Given the description of an element on the screen output the (x, y) to click on. 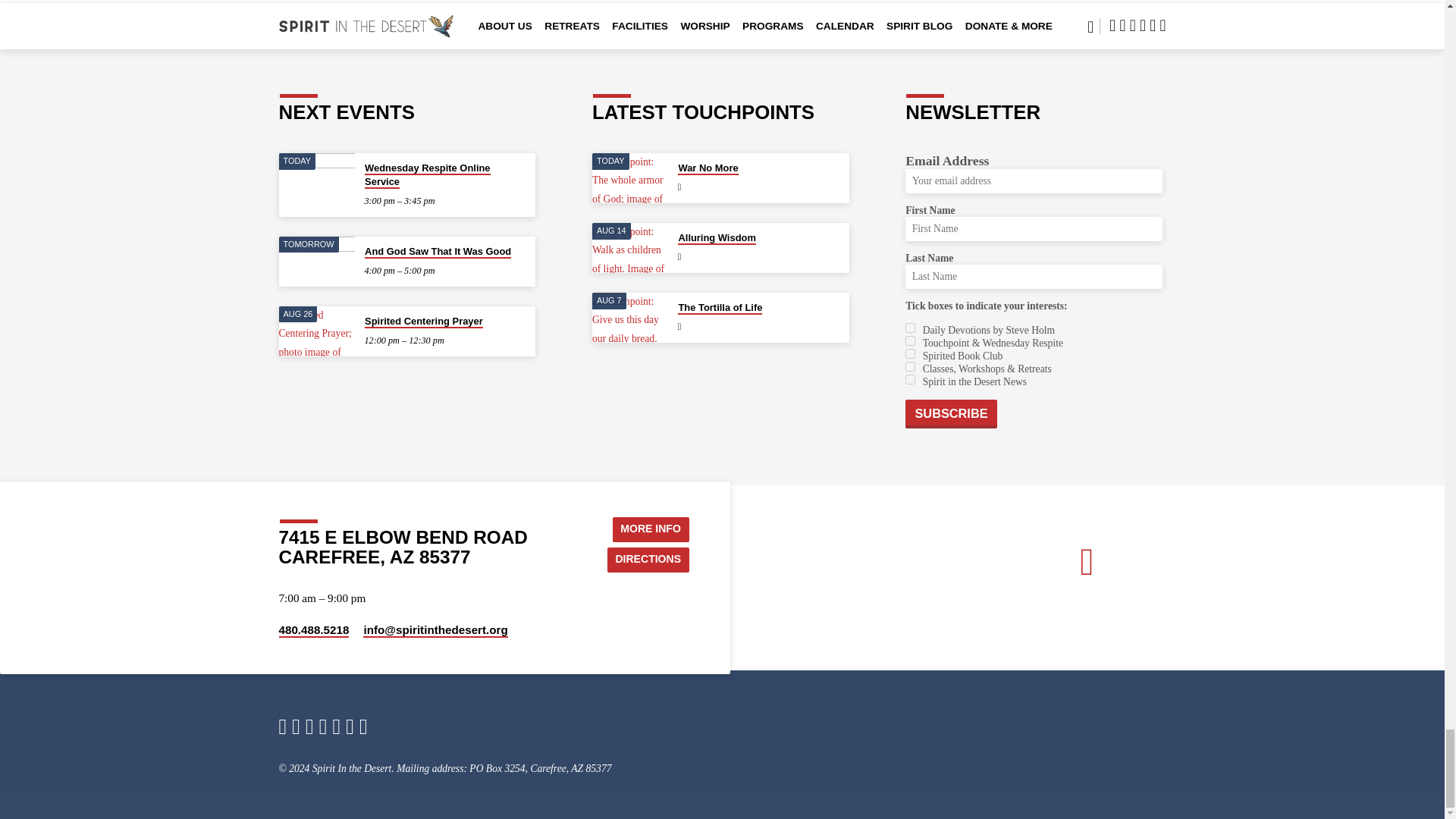
44e0e54a7c (910, 340)
451e56ae58 (910, 353)
f19ab91031 (910, 327)
e15f548fa0 (910, 366)
Subscribe (951, 413)
db06863268 (910, 379)
